Given the description of an element on the screen output the (x, y) to click on. 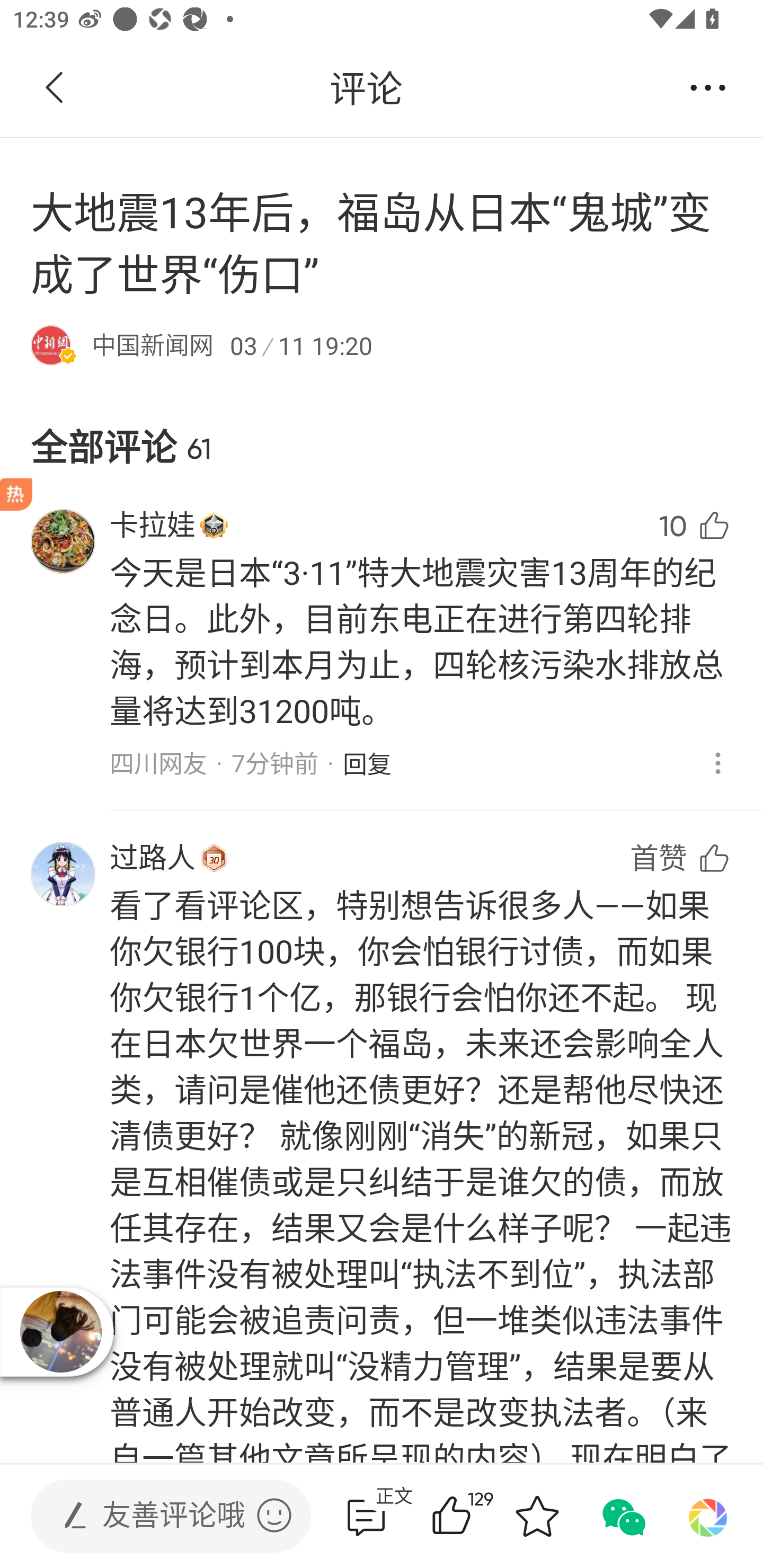
分享  (707, 87)
 返回 (54, 87)
 关注 (395, 88)
中国新闻网 (152, 344)
全部评论 61 (381, 431)
UserRightLabel_OneMedalView 勋章 (213, 525)
UserRightLabel_OneMedalView 勋章 (213, 857)
播放器 (60, 1330)
发表评论  友善评论哦 发表评论  (155, 1516)
61评论  61 评论 (365, 1516)
129赞 (476, 1516)
收藏  (536, 1516)
分享到微信  (622, 1516)
分享到朋友圈 (707, 1516)
 (274, 1515)
